Given the description of an element on the screen output the (x, y) to click on. 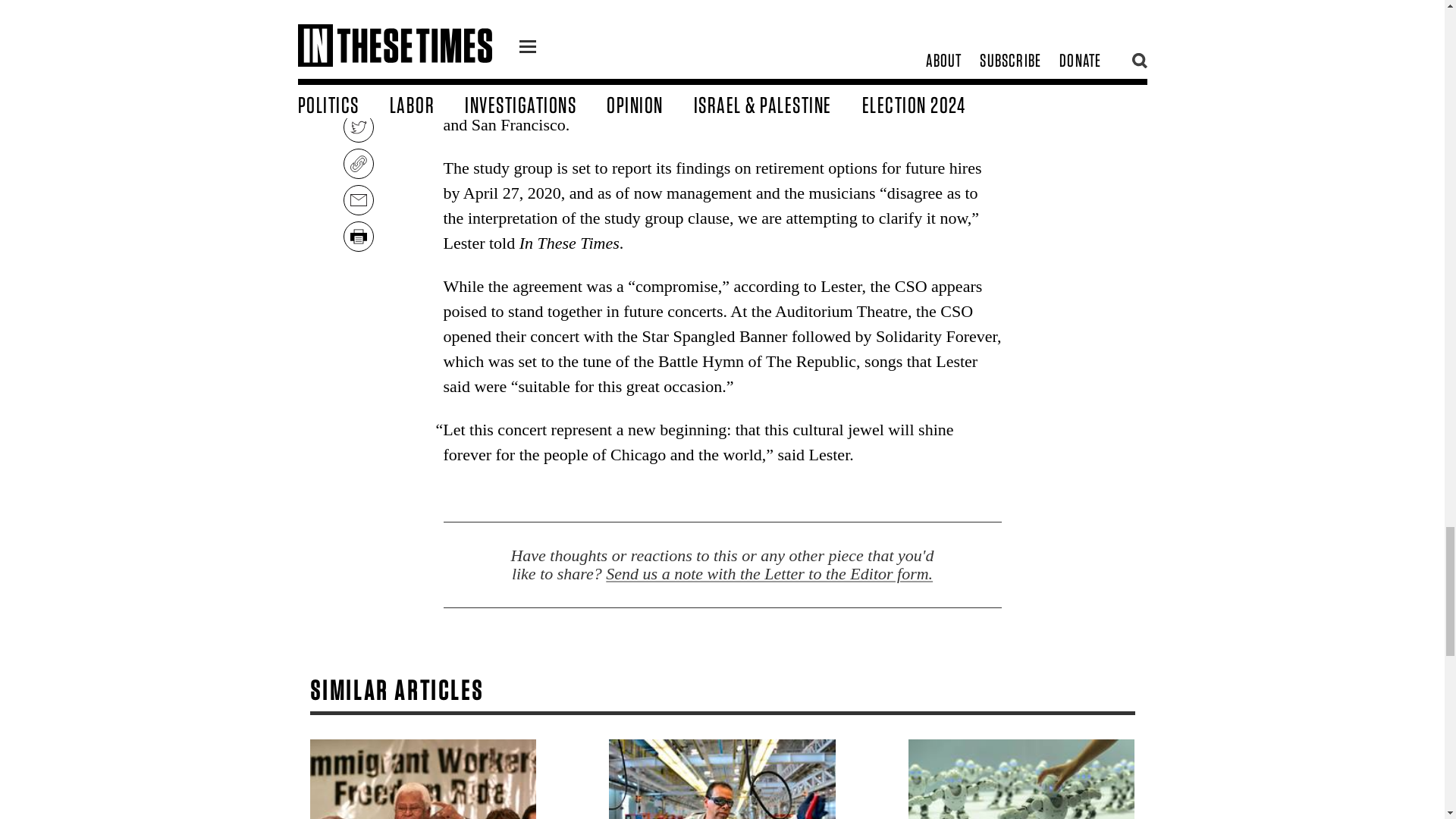
Send us a note with the Letter to the Editor form. (769, 573)
